Given the description of an element on the screen output the (x, y) to click on. 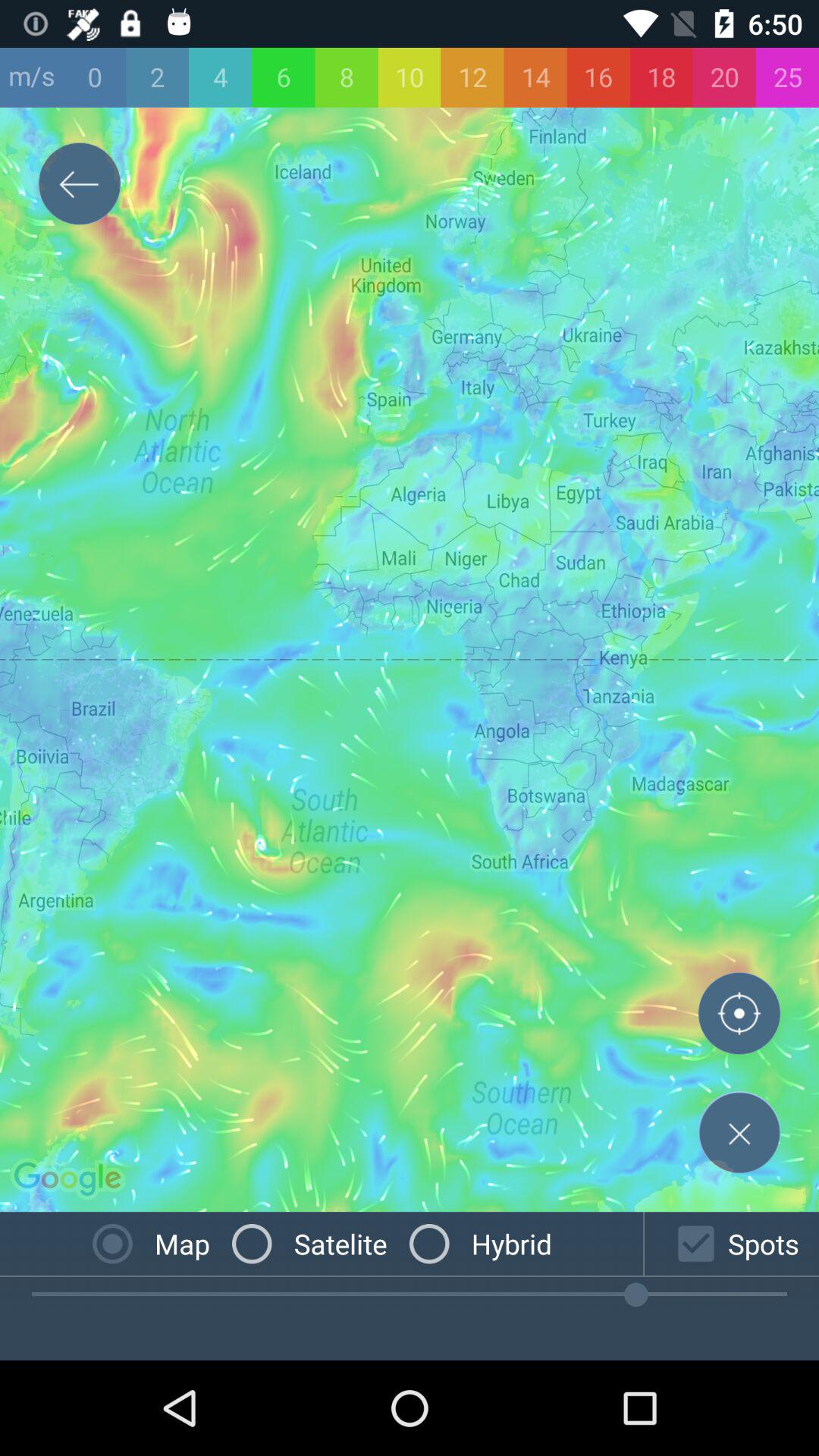
location target (739, 1016)
